Given the description of an element on the screen output the (x, y) to click on. 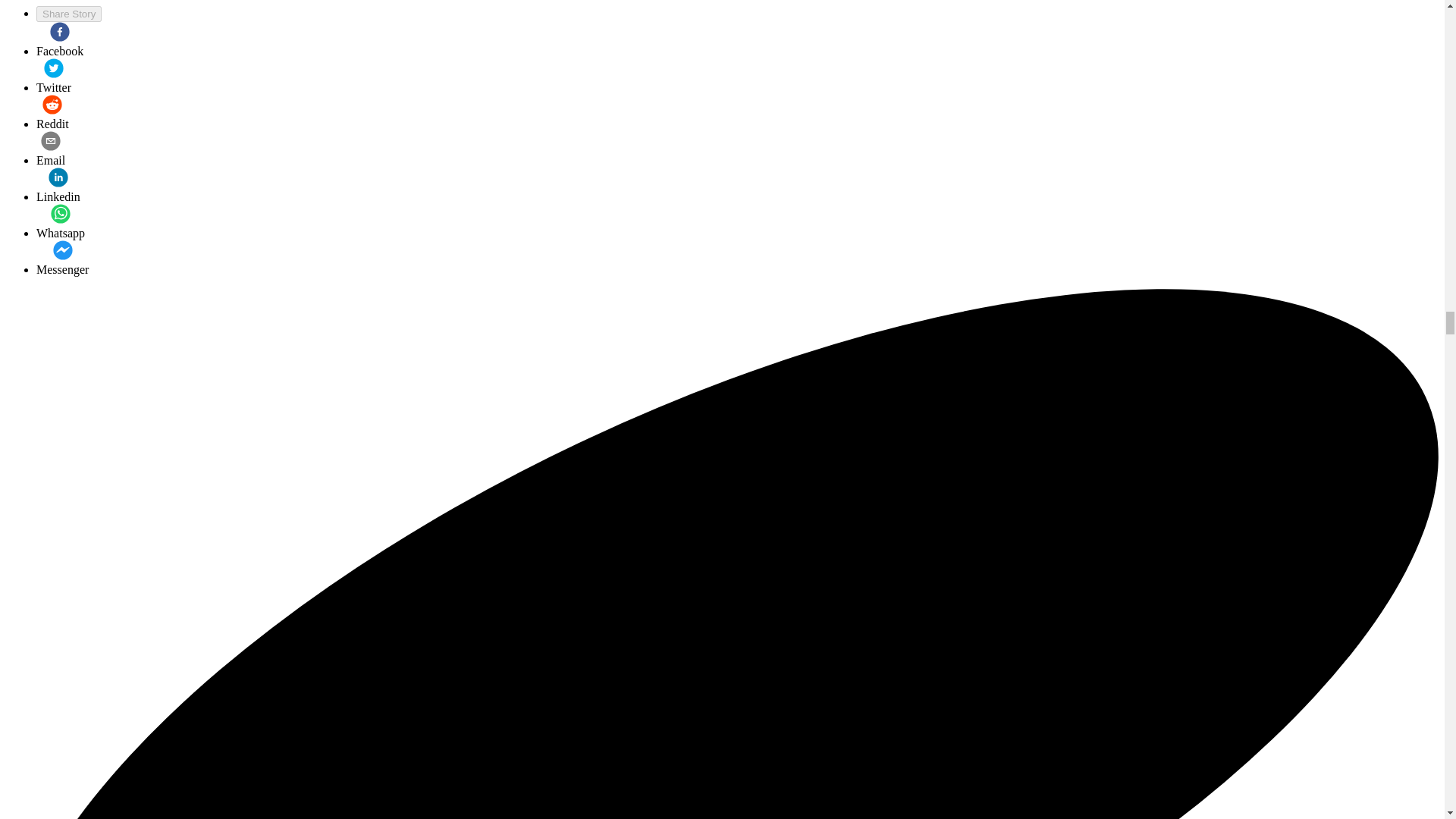
Their house, my garden: Support systems (62, 258)
Facebook (59, 40)
Twitter (53, 76)
Share Story (68, 13)
